Given the description of an element on the screen output the (x, y) to click on. 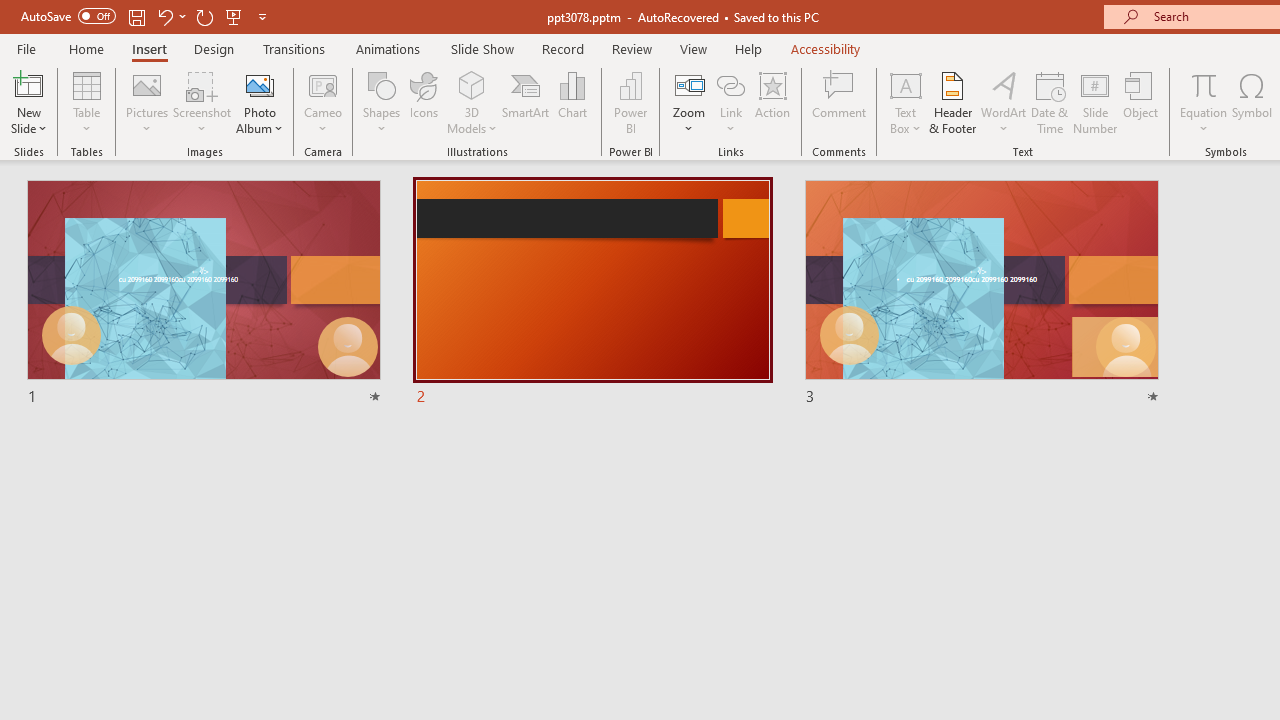
Pictures (147, 102)
3D Models (472, 84)
Symbol... (1252, 102)
3D Models (472, 102)
WordArt (1004, 102)
Link (731, 102)
Equation (1203, 84)
From Beginning (234, 15)
More Options (1203, 121)
Chart... (572, 102)
Action (772, 102)
Save (136, 15)
AutoSave (68, 16)
Animations (388, 48)
